Given the description of an element on the screen output the (x, y) to click on. 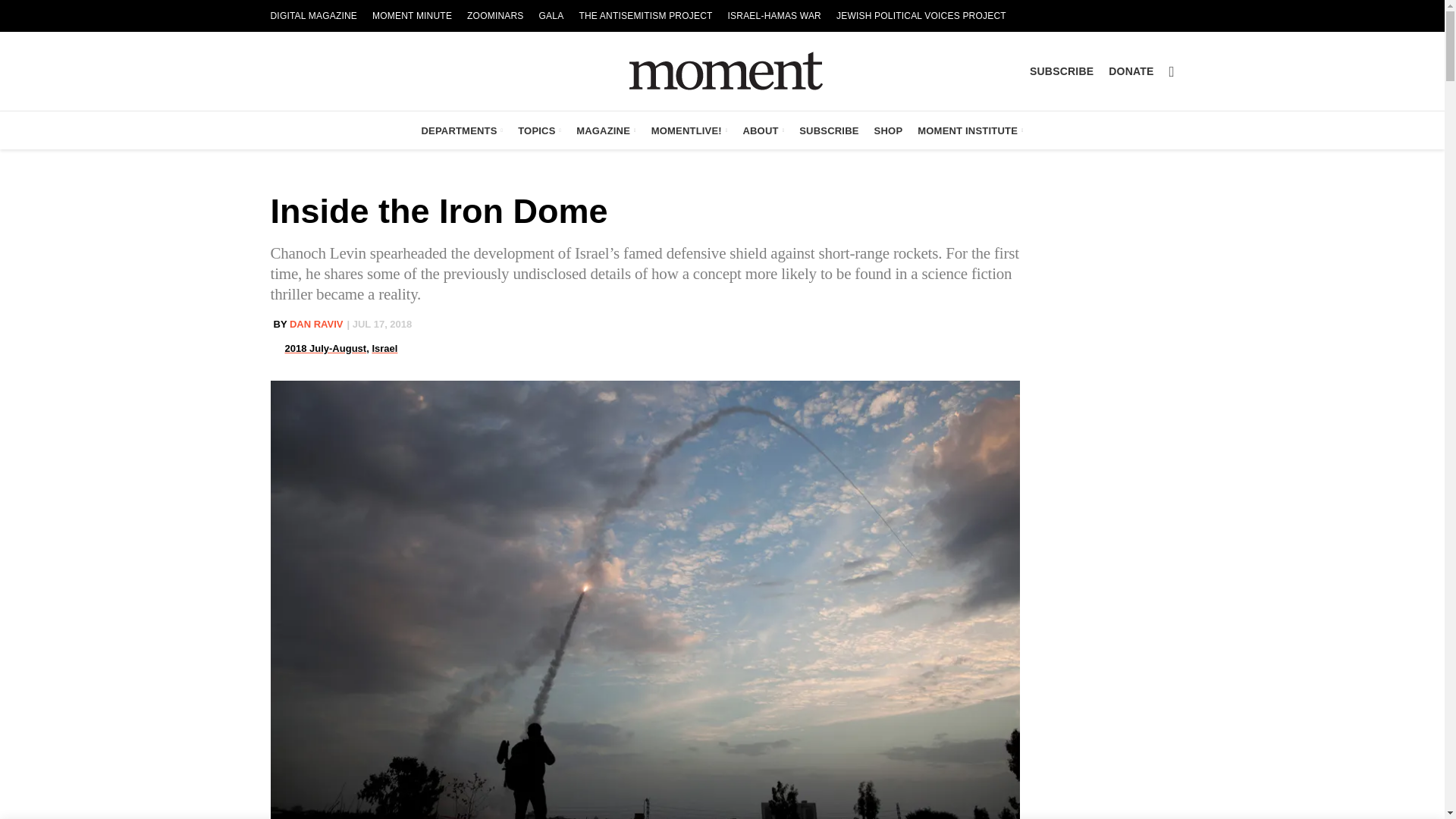
ISRAEL-HAMAS WAR (774, 15)
DIGITAL MAGAZINE (313, 15)
DEPARTMENTS (462, 130)
TOPICS (540, 130)
Posts by Dan Raviv (316, 324)
DONATE (1130, 71)
SUBSCRIBE (1061, 71)
JEWISH POLITICAL VOICES PROJECT (920, 15)
GALA (551, 15)
MOMENT MINUTE (412, 15)
THE ANTISEMITISM PROJECT (644, 15)
ZOOMINARS (495, 15)
